Given the description of an element on the screen output the (x, y) to click on. 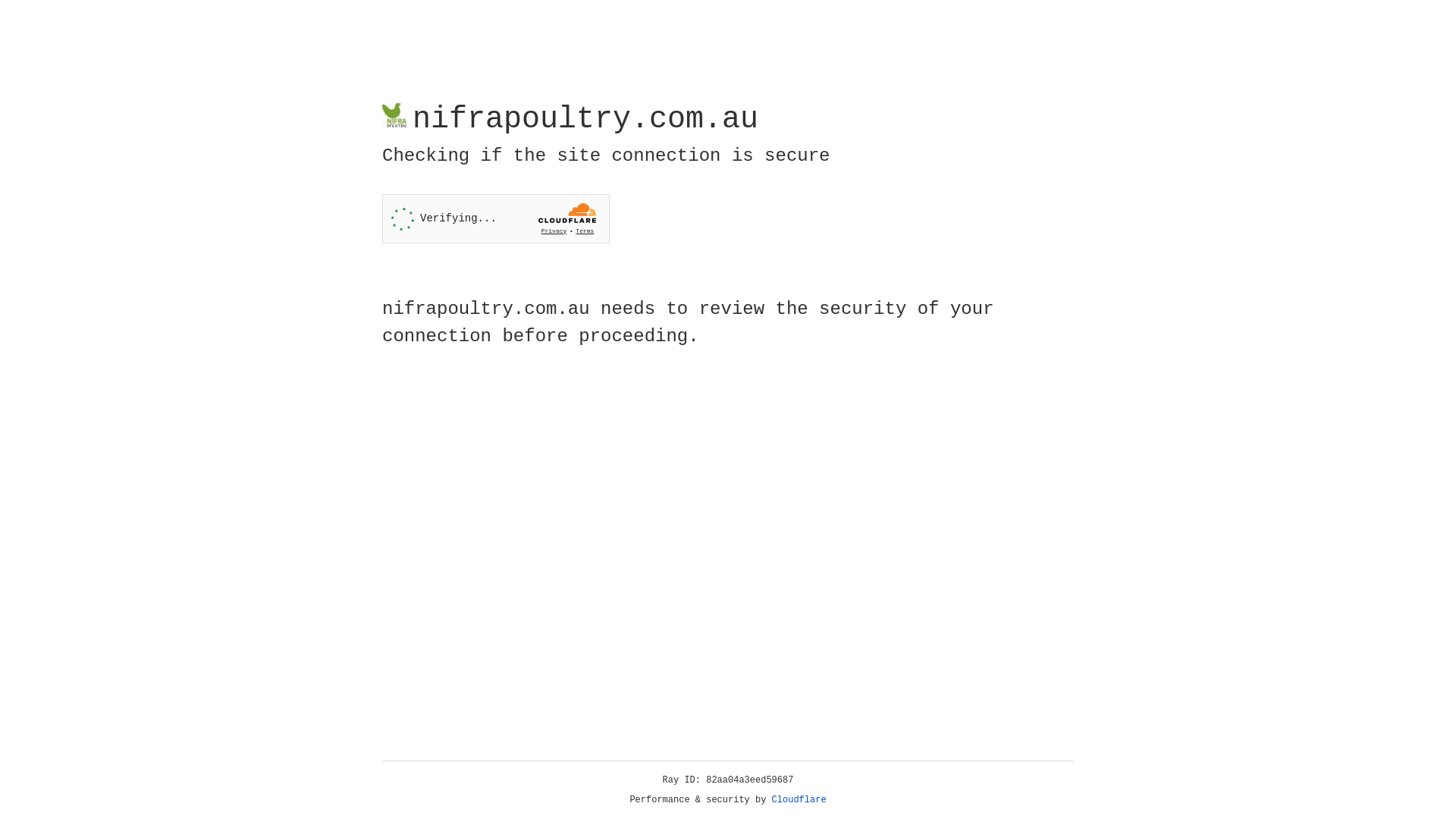
Widget containing a Cloudflare security challenge Element type: hover (495, 218)
Cloudflare Element type: text (798, 799)
